Given the description of an element on the screen output the (x, y) to click on. 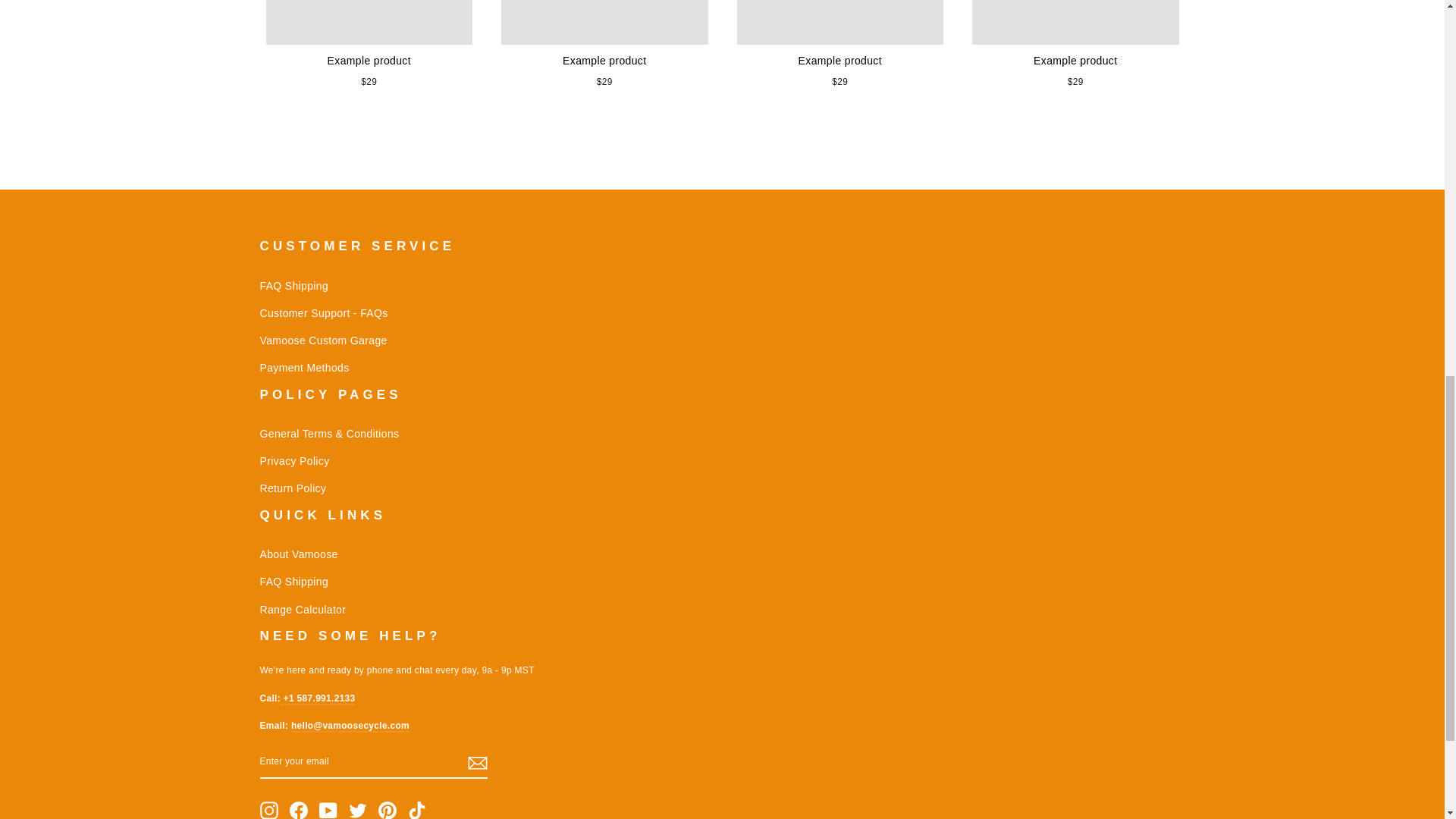
Email (350, 726)
Vamoose Electric Cycle Ltd. on TikTok (416, 810)
Vamoose Electric Cycle Ltd. on YouTube (327, 810)
Vamoose Electric Cycle Ltd. on Twitter (357, 810)
Vamoose Electric Cycle Ltd. on Instagram (268, 810)
Vamoose Electric Cycle Ltd. on Pinterest (386, 810)
Vamoose Electric Cycle Ltd. on Facebook (298, 810)
